Given the description of an element on the screen output the (x, y) to click on. 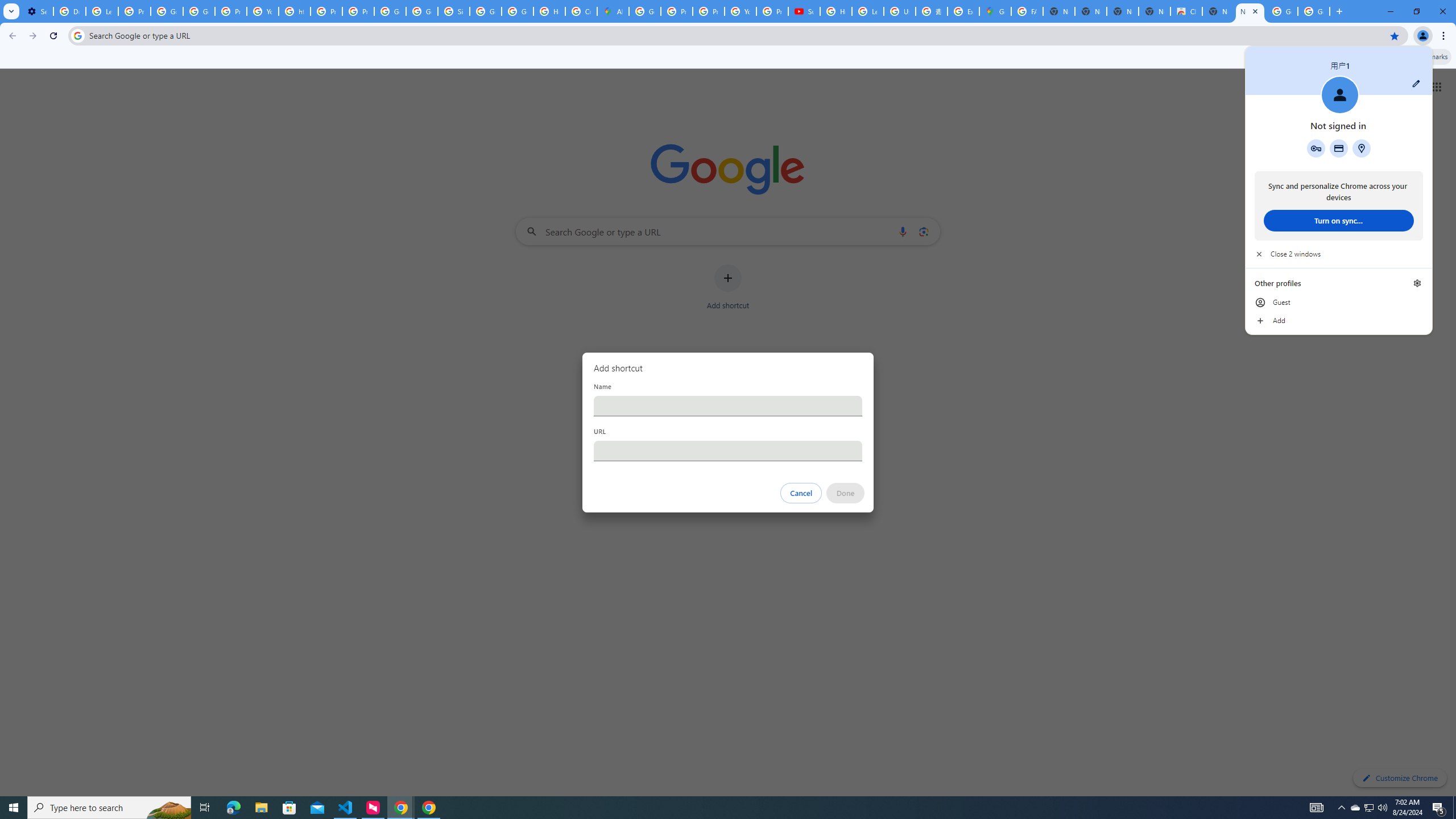
Guest (1355, 807)
Subscriptions - YouTube (1338, 302)
Q2790: 100% (804, 11)
Google Maps (1382, 807)
Microsoft Store (995, 11)
YouTube (289, 807)
Privacy Help Center - Policies Help (740, 11)
Manage profiles (708, 11)
